Given the description of an element on the screen output the (x, y) to click on. 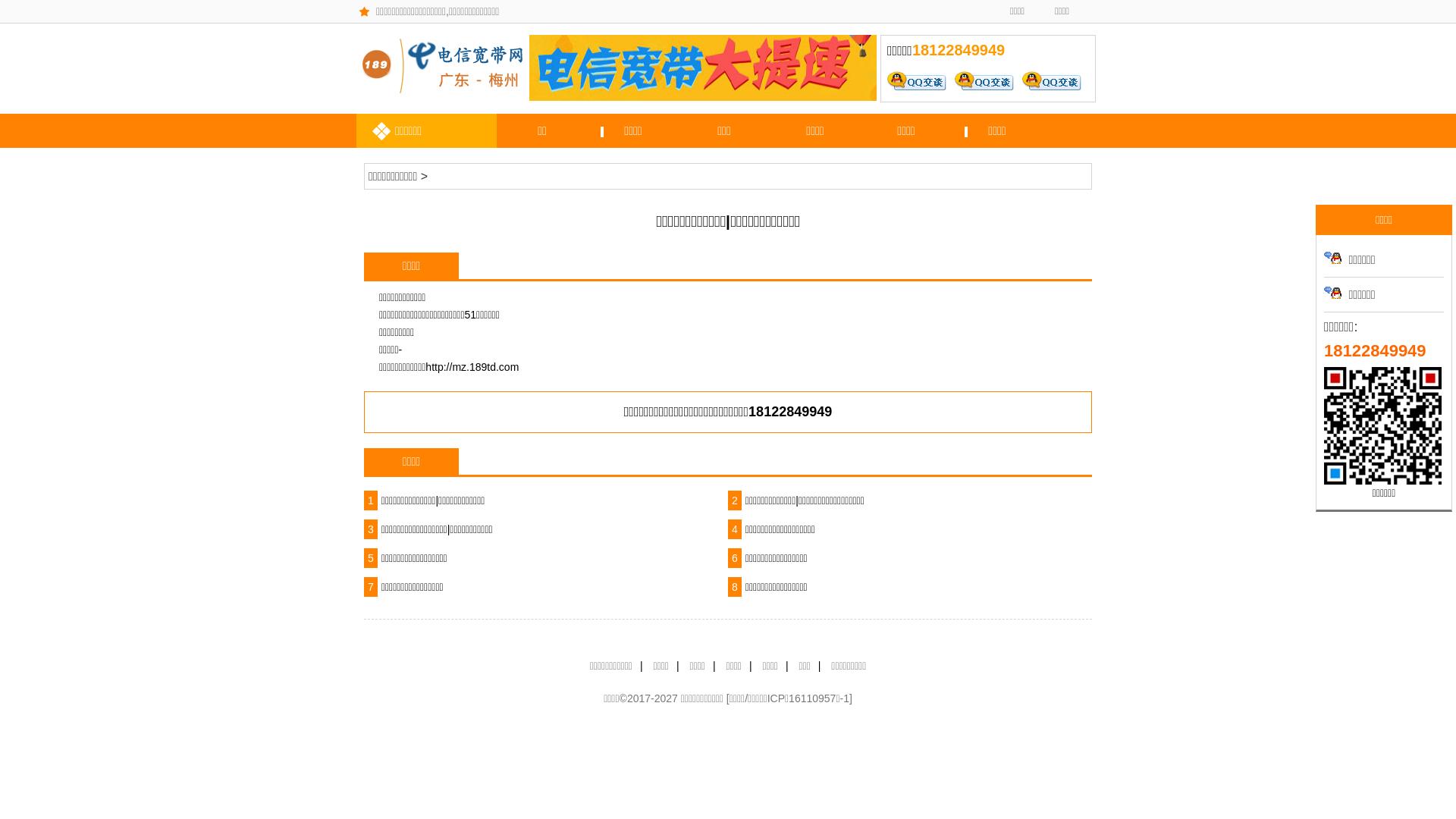
http://mz.189td.com Element type: text (471, 366)
